Given the description of an element on the screen output the (x, y) to click on. 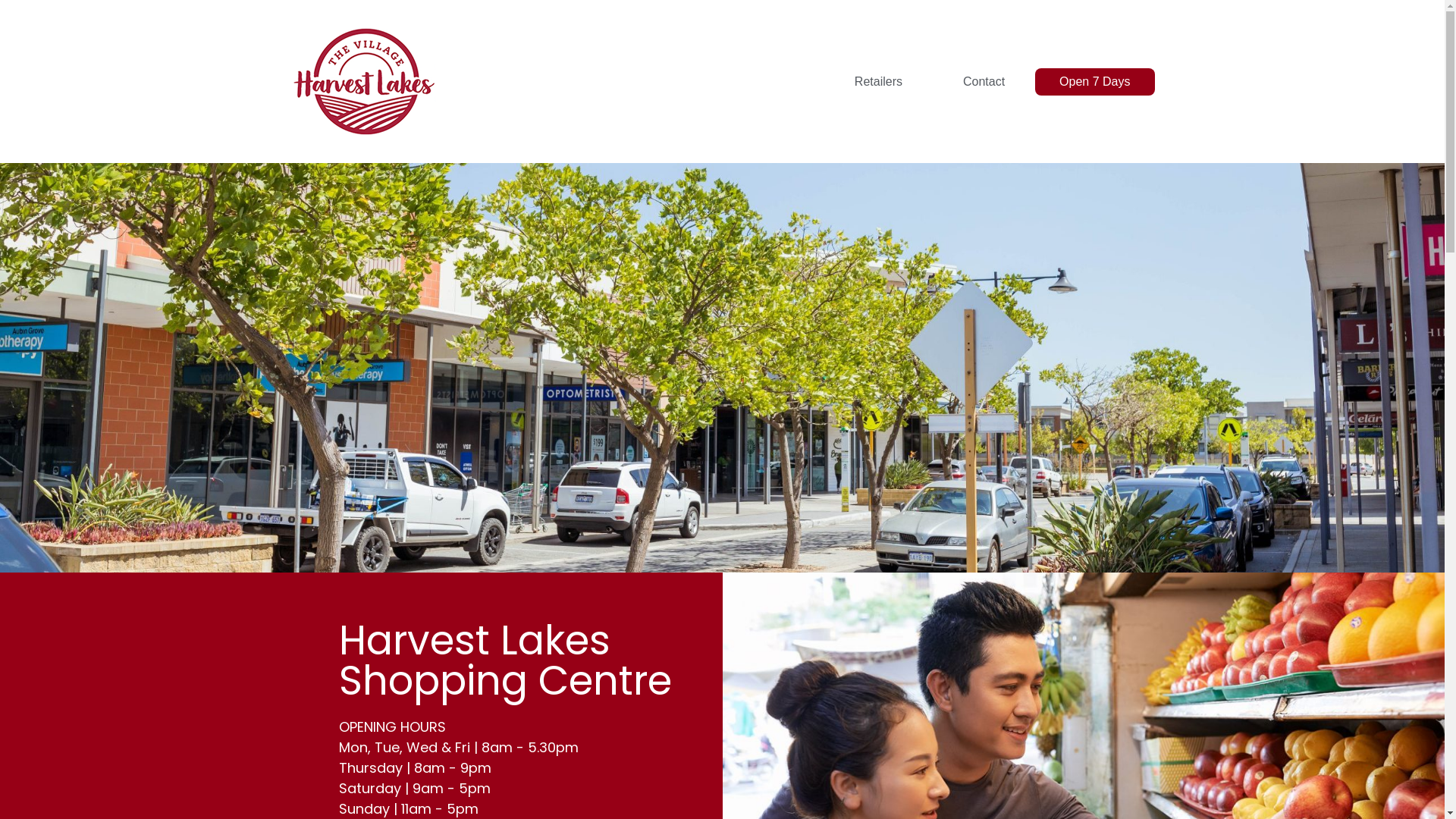
Contact Element type: text (983, 81)
Retailers Element type: text (878, 81)
Open 7 Days Element type: text (1094, 81)
